Given the description of an element on the screen output the (x, y) to click on. 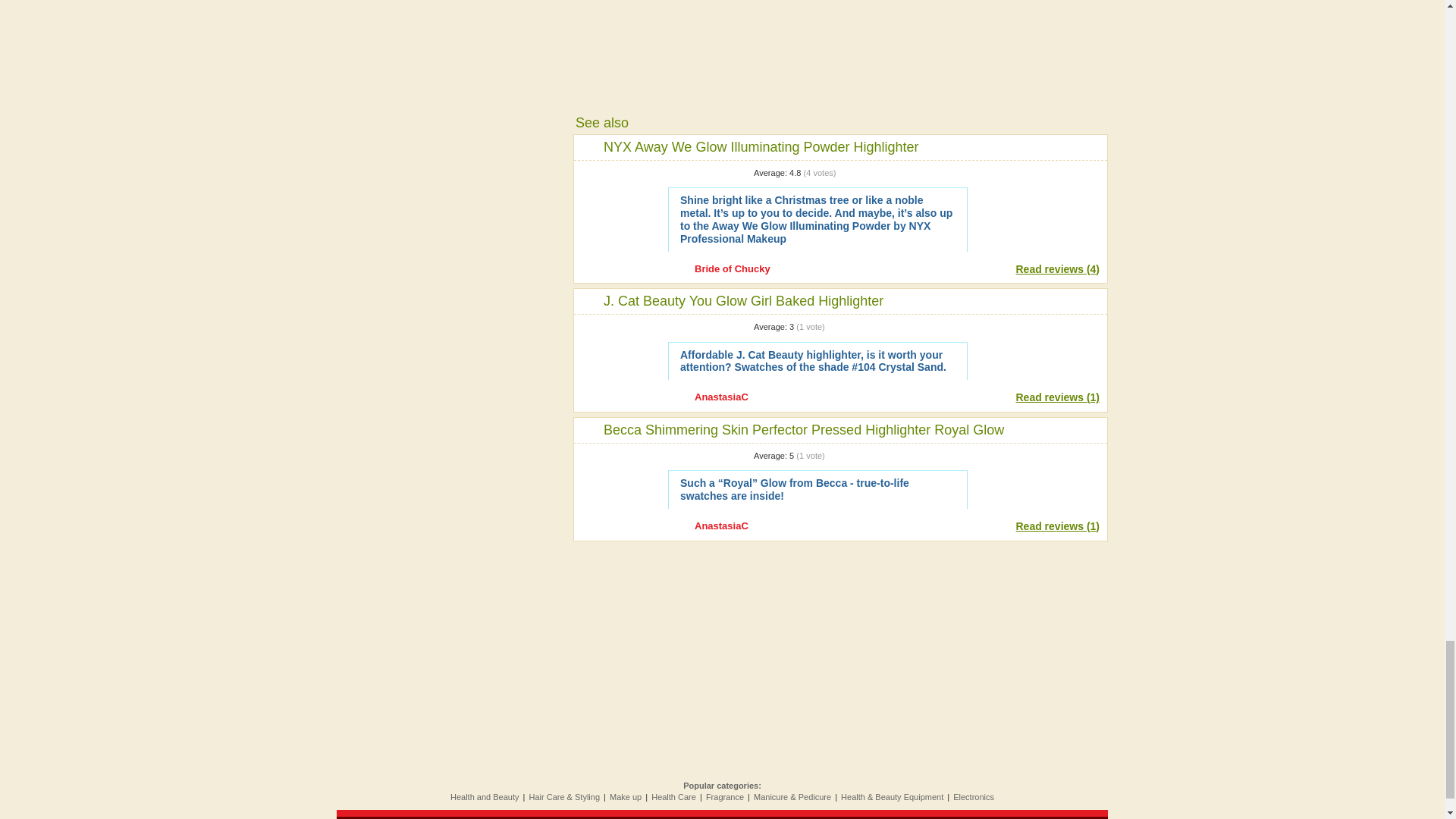
Write a review (1037, 348)
Write a review (1037, 477)
Write a review (1037, 194)
